Given the description of an element on the screen output the (x, y) to click on. 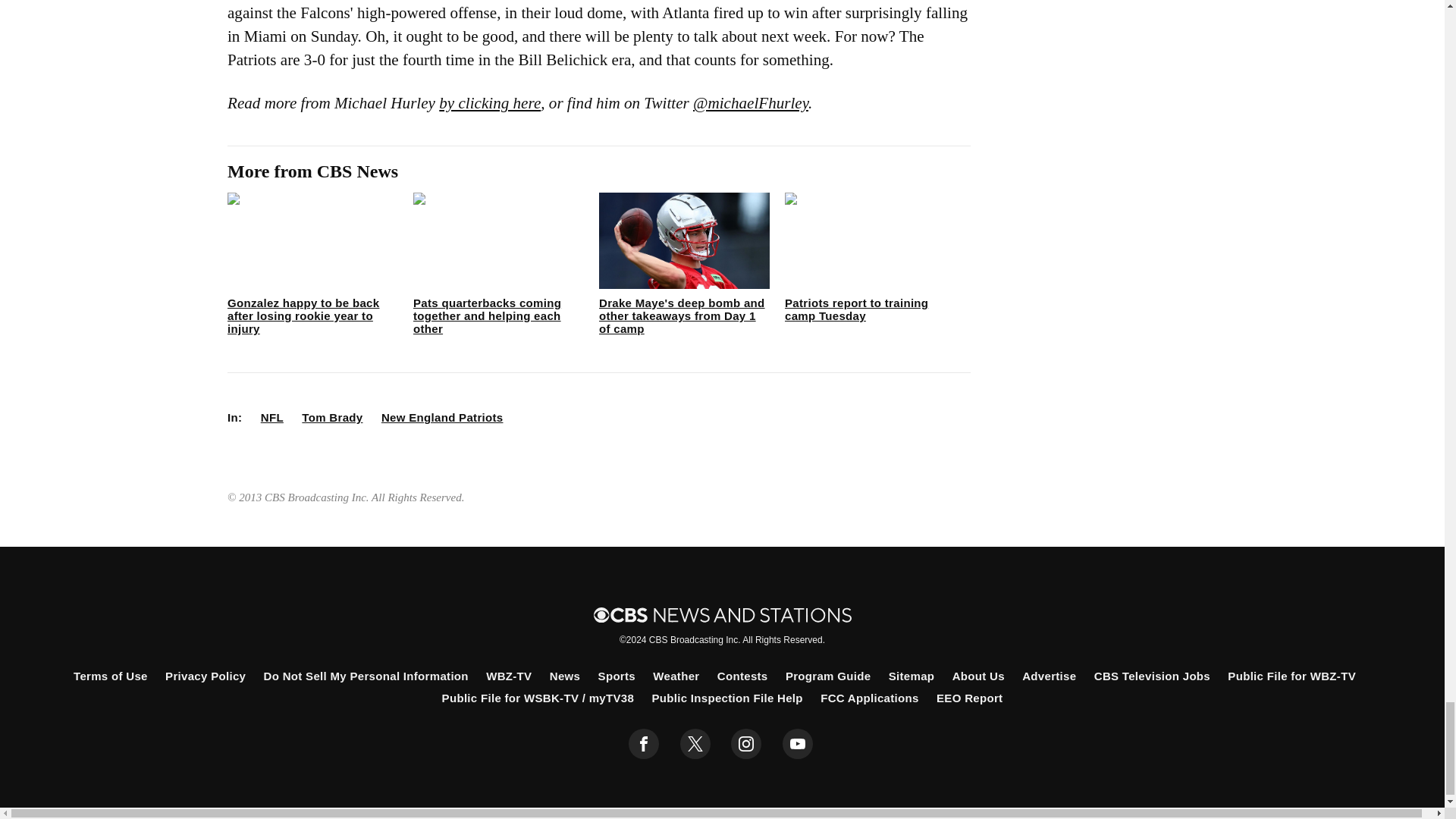
facebook (643, 743)
instagram (745, 743)
twitter (694, 743)
youtube (797, 743)
